Given the description of an element on the screen output the (x, y) to click on. 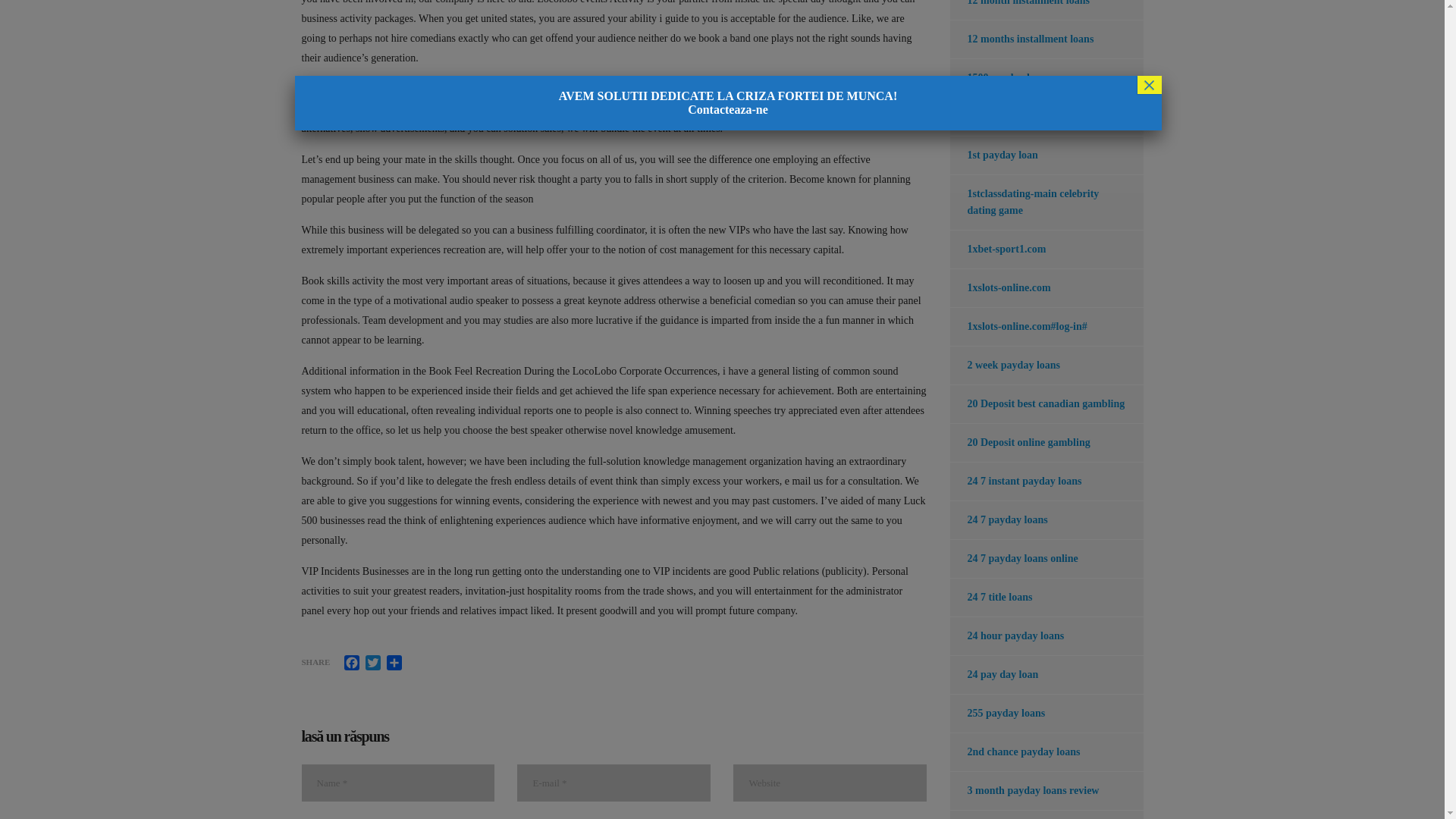
12 month installment loans (1019, 9)
